Given the description of an element on the screen output the (x, y) to click on. 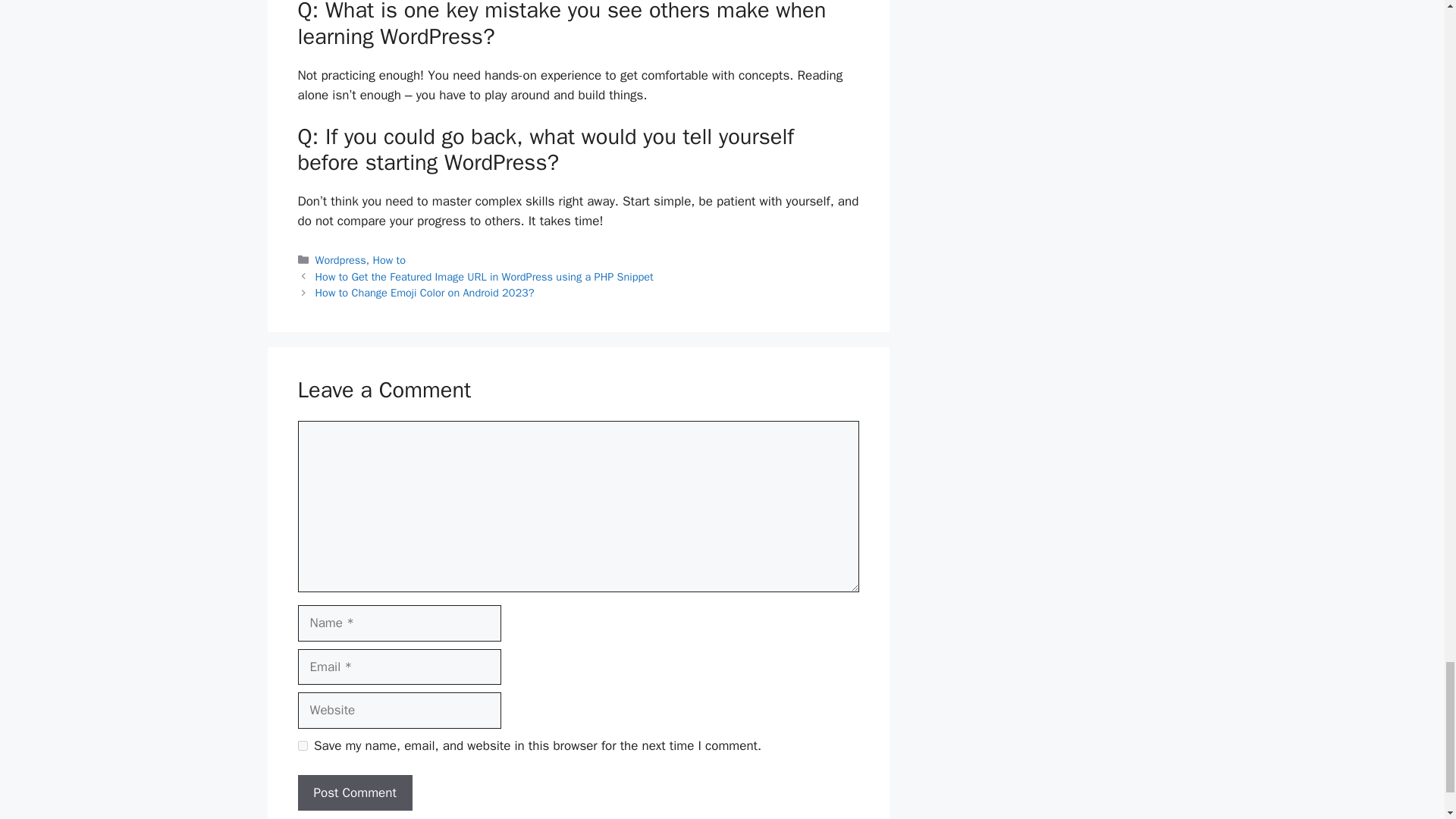
Wordpress (340, 259)
How to (389, 259)
Post Comment (354, 792)
Post Comment (354, 792)
How to Change Emoji Color on Android 2023? (424, 292)
yes (302, 746)
